Given the description of an element on the screen output the (x, y) to click on. 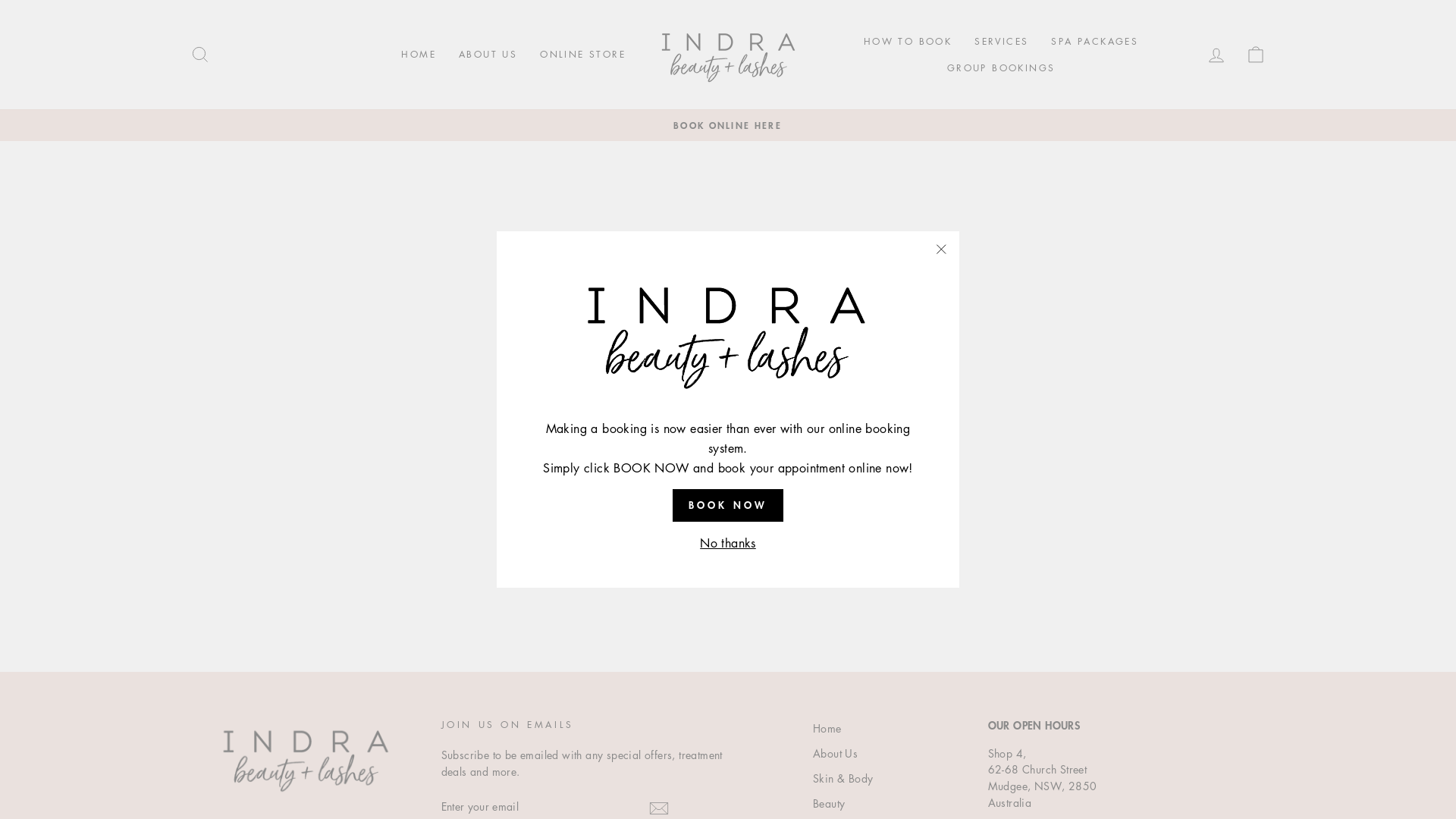
Beauty Element type: text (828, 803)
Home Element type: text (826, 728)
CART Element type: text (1255, 53)
"Close (esc)" Element type: text (940, 249)
HOME Element type: text (418, 54)
BOOK ONLINE HERE Element type: text (727, 124)
SEARCH Element type: text (199, 53)
LOG IN Element type: text (1216, 53)
ONLINE STORE Element type: text (582, 54)
About Us Element type: text (834, 753)
SERVICES Element type: text (1001, 41)
GROUP BOOKINGS Element type: text (1000, 67)
Continue shopping Element type: text (727, 331)
Skip to content Element type: text (0, 0)
Skin & Body Element type: text (842, 778)
No thanks Element type: text (727, 543)
ABOUT US Element type: text (487, 54)
BOOK NOW Element type: text (727, 504)
HOW TO BOOK Element type: text (907, 41)
SPA PACKAGES Element type: text (1094, 41)
